Given the description of an element on the screen output the (x, y) to click on. 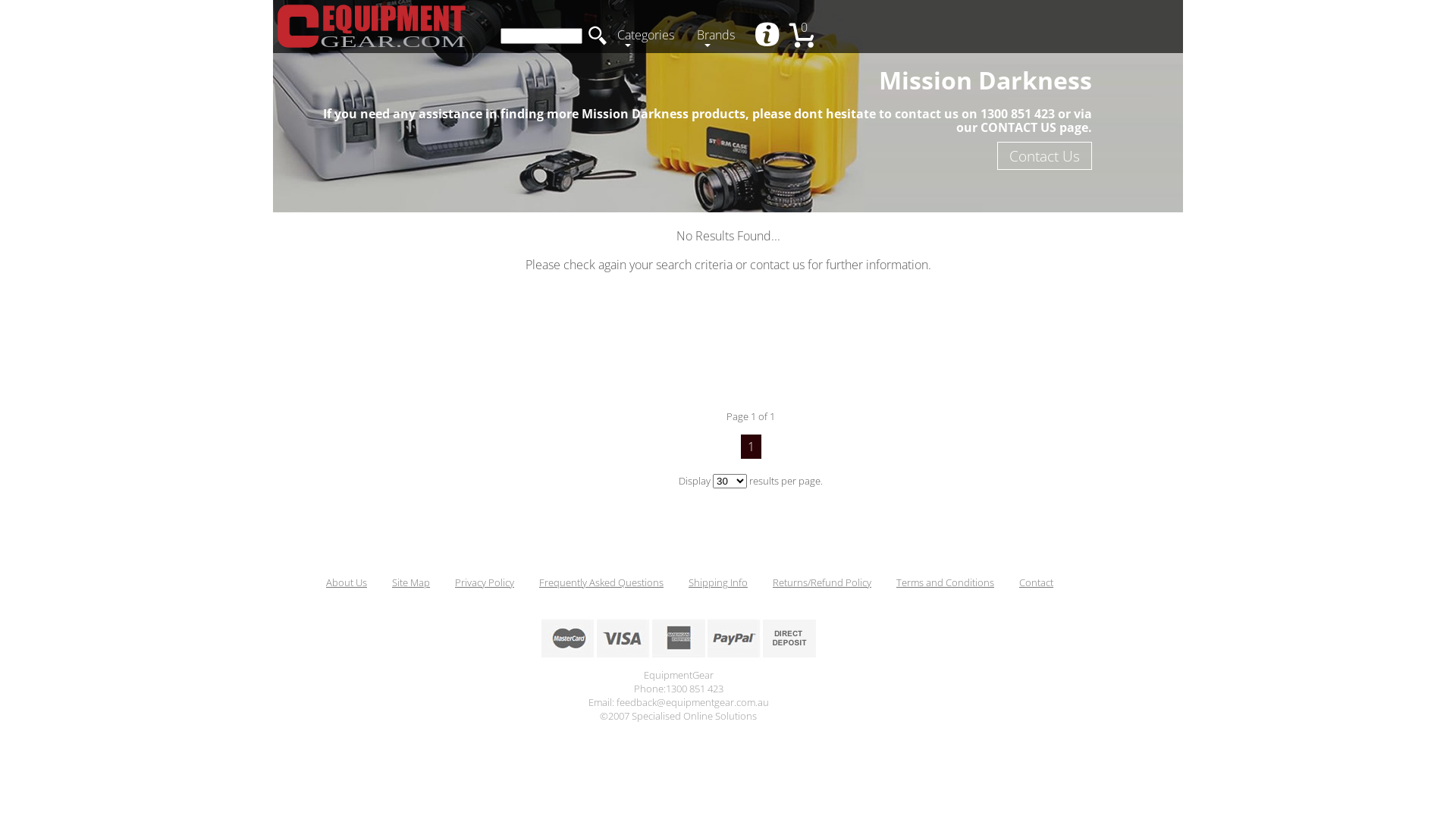
Paypal Accepted Element type: hover (732, 638)
American Express Accepted Element type: hover (678, 638)
Privacy Policy Element type: text (484, 582)
  Element type: text (768, 35)
1 Element type: text (750, 446)
EquipmentGear Element type: hover (371, 26)
Categories Element type: text (649, 36)
Site Map Element type: text (410, 582)
Contact Us Element type: text (1044, 155)
Returns/Refund Policy Element type: text (821, 582)
Frequently Asked Questions Element type: text (601, 582)
About Us Element type: text (346, 582)
Brands Element type: text (719, 36)
search Element type: hover (597, 35)
0 Element type: text (807, 36)
VisaCard Accepted Element type: hover (622, 638)
Contact Element type: text (1036, 582)
Shipping Info Element type: text (717, 582)
Terms and Conditions Element type: text (945, 582)
Product Search Element type: hover (541, 35)
About Us Element type: hover (768, 35)
MasterCard Accepted Element type: hover (567, 638)
Bank Deposits Accepted Element type: hover (788, 638)
